Given the description of an element on the screen output the (x, y) to click on. 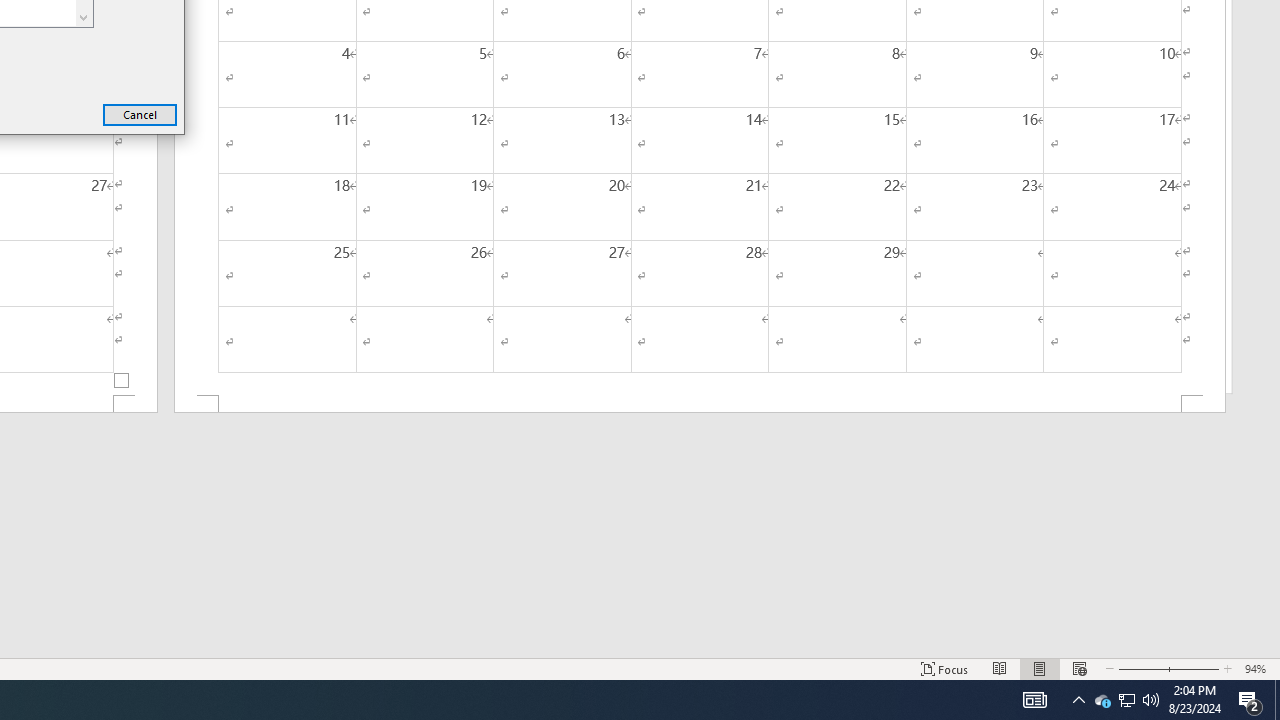
Notification Chevron (1078, 699)
Line down (83, 16)
Footer -Section 2- (700, 404)
AutomationID: 4105 (1034, 699)
Q2790: 100% (1151, 699)
Action Center, 2 new notifications (1250, 699)
